Given the description of an element on the screen output the (x, y) to click on. 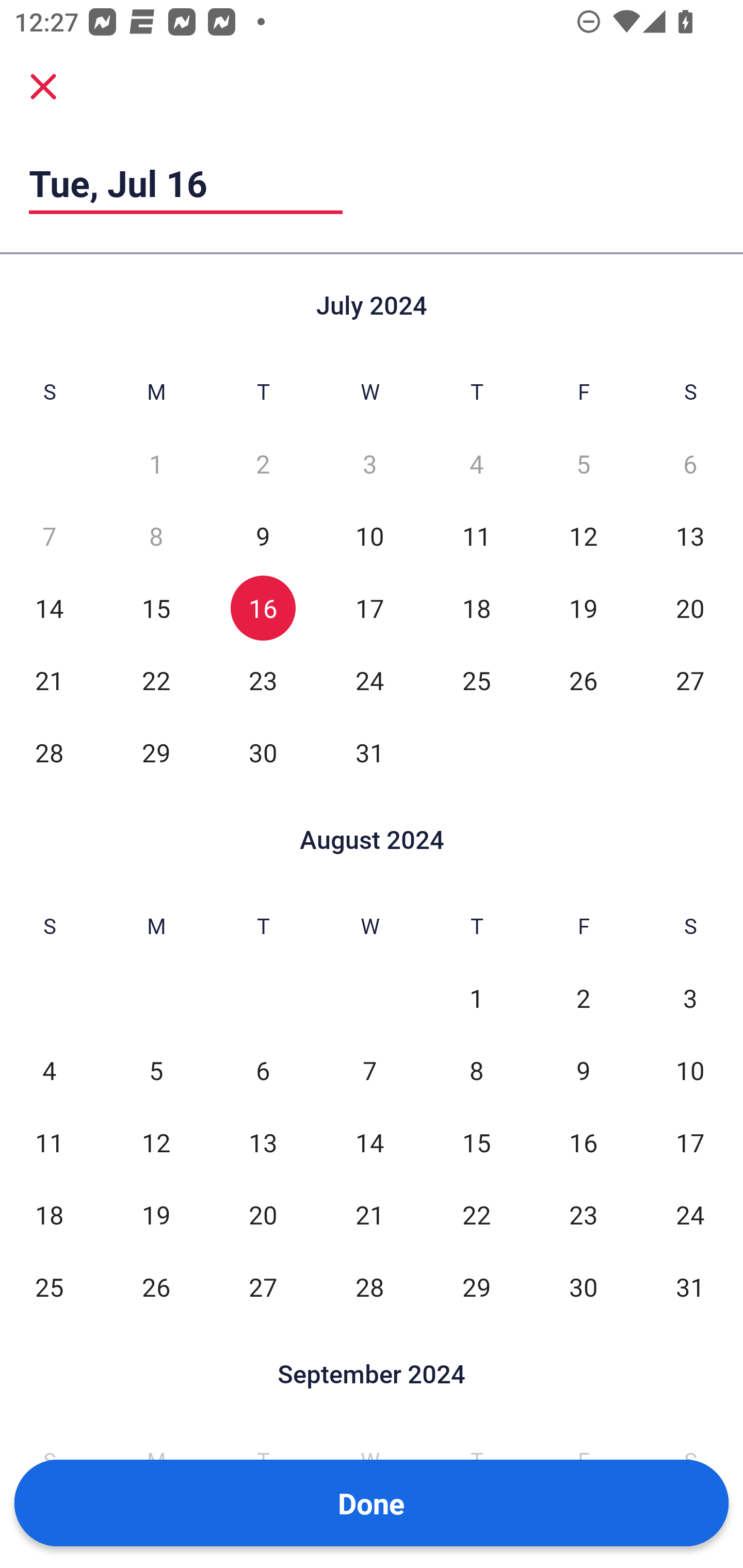
Cancel (43, 86)
Tue, Jul 16 (185, 182)
1 Mon, Jul 1, Not Selected (156, 464)
2 Tue, Jul 2, Not Selected (263, 464)
3 Wed, Jul 3, Not Selected (369, 464)
4 Thu, Jul 4, Not Selected (476, 464)
5 Fri, Jul 5, Not Selected (583, 464)
6 Sat, Jul 6, Not Selected (690, 464)
7 Sun, Jul 7, Not Selected (49, 536)
8 Mon, Jul 8, Not Selected (156, 536)
9 Tue, Jul 9, Not Selected (263, 536)
10 Wed, Jul 10, Not Selected (369, 536)
11 Thu, Jul 11, Not Selected (476, 536)
12 Fri, Jul 12, Not Selected (583, 536)
13 Sat, Jul 13, Not Selected (690, 536)
14 Sun, Jul 14, Not Selected (49, 608)
15 Mon, Jul 15, Not Selected (156, 608)
16 Tue, Jul 16, Selected (263, 608)
17 Wed, Jul 17, Not Selected (369, 608)
18 Thu, Jul 18, Not Selected (476, 608)
19 Fri, Jul 19, Not Selected (583, 608)
20 Sat, Jul 20, Not Selected (690, 608)
21 Sun, Jul 21, Not Selected (49, 680)
22 Mon, Jul 22, Not Selected (156, 680)
23 Tue, Jul 23, Not Selected (263, 680)
24 Wed, Jul 24, Not Selected (369, 680)
25 Thu, Jul 25, Not Selected (476, 680)
26 Fri, Jul 26, Not Selected (583, 680)
27 Sat, Jul 27, Not Selected (690, 680)
28 Sun, Jul 28, Not Selected (49, 752)
29 Mon, Jul 29, Not Selected (156, 752)
30 Tue, Jul 30, Not Selected (263, 752)
31 Wed, Jul 31, Not Selected (369, 752)
1 Thu, Aug 1, Not Selected (476, 997)
2 Fri, Aug 2, Not Selected (583, 997)
3 Sat, Aug 3, Not Selected (690, 997)
4 Sun, Aug 4, Not Selected (49, 1070)
5 Mon, Aug 5, Not Selected (156, 1070)
6 Tue, Aug 6, Not Selected (263, 1070)
7 Wed, Aug 7, Not Selected (369, 1070)
8 Thu, Aug 8, Not Selected (476, 1070)
9 Fri, Aug 9, Not Selected (583, 1070)
10 Sat, Aug 10, Not Selected (690, 1070)
11 Sun, Aug 11, Not Selected (49, 1143)
12 Mon, Aug 12, Not Selected (156, 1143)
13 Tue, Aug 13, Not Selected (263, 1143)
14 Wed, Aug 14, Not Selected (369, 1143)
15 Thu, Aug 15, Not Selected (476, 1143)
16 Fri, Aug 16, Not Selected (583, 1143)
17 Sat, Aug 17, Not Selected (690, 1143)
